Given the description of an element on the screen output the (x, y) to click on. 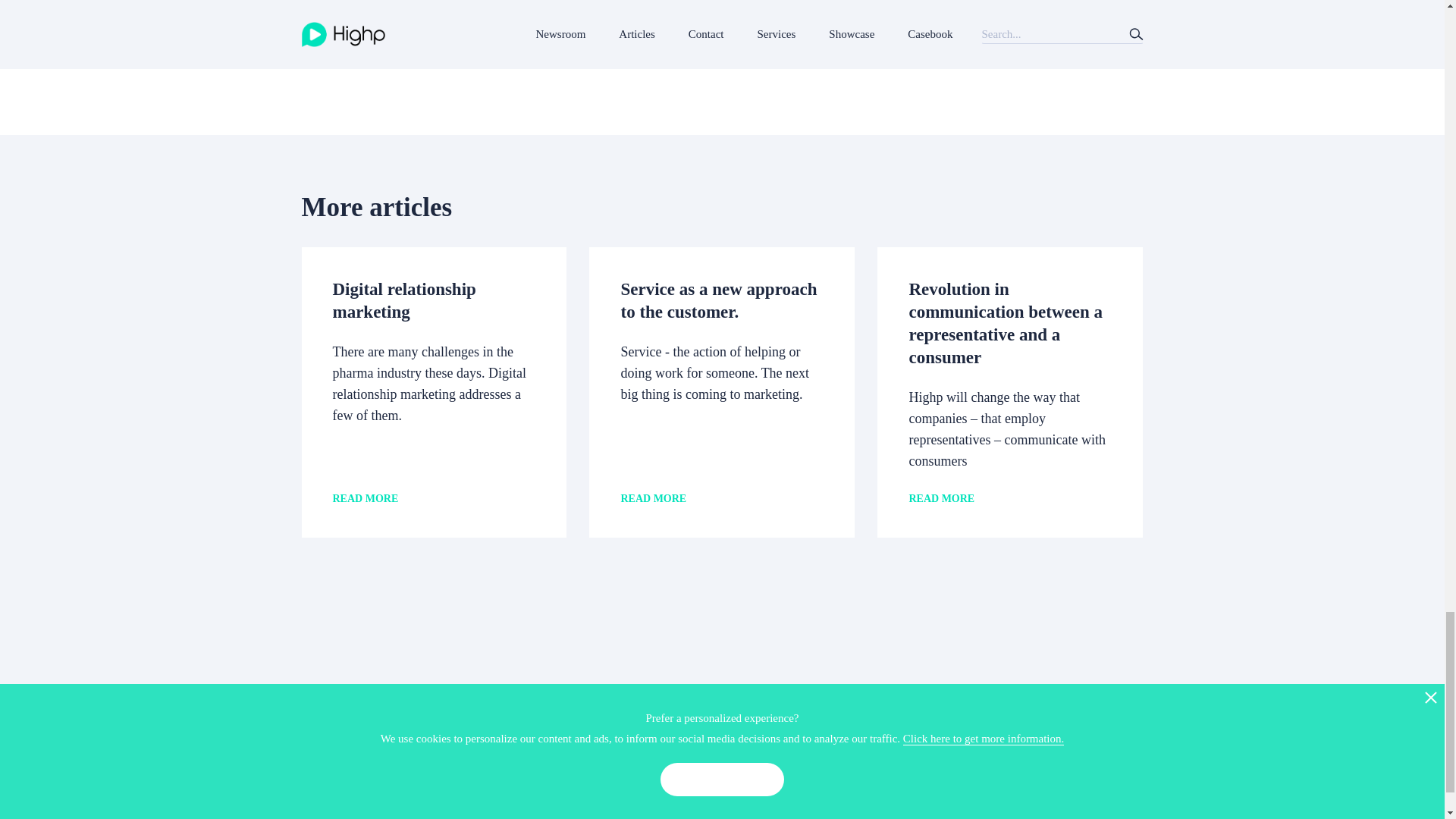
Cookies (968, 733)
Articles (823, 705)
Privacy Policy (982, 705)
Contact (823, 762)
Newsroom (830, 733)
Services (824, 790)
